Given the description of an element on the screen output the (x, y) to click on. 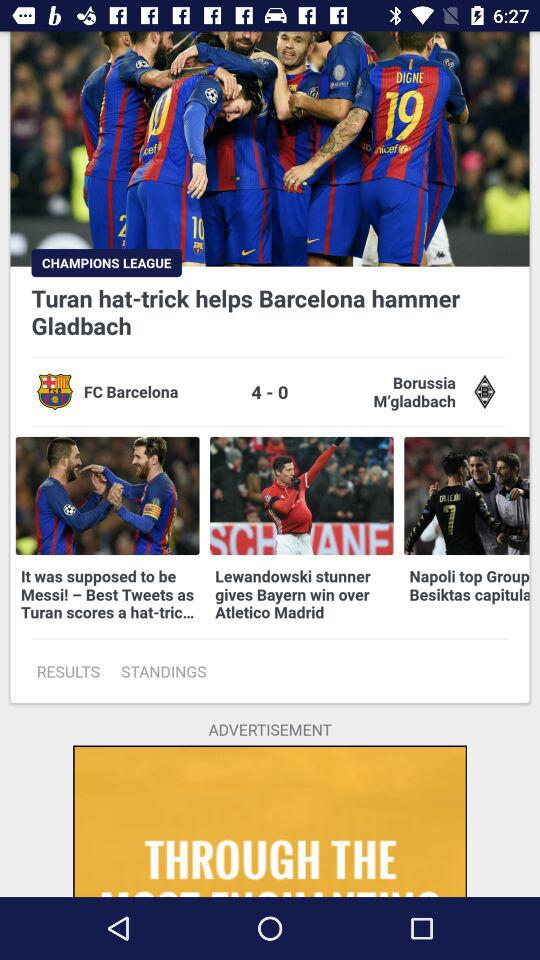
view advertisement (269, 821)
